Given the description of an element on the screen output the (x, y) to click on. 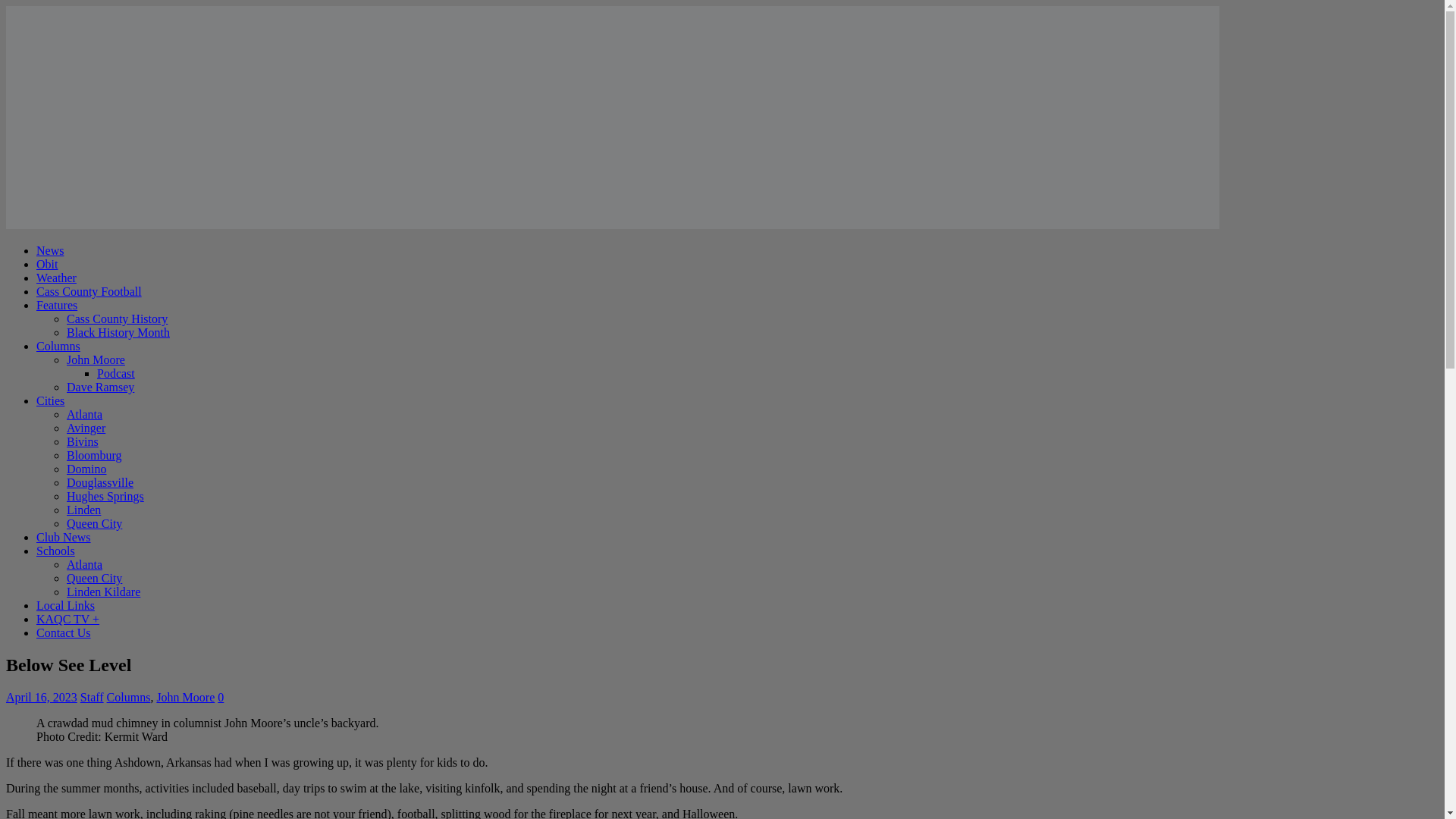
Queen City (94, 577)
Atlanta (83, 413)
Bloomburg (94, 454)
Schools (55, 550)
Cass County Football (88, 291)
Linden Kildare (102, 591)
Atlanta (83, 563)
Columns (58, 345)
Columns (128, 697)
Cities (50, 400)
